Given the description of an element on the screen output the (x, y) to click on. 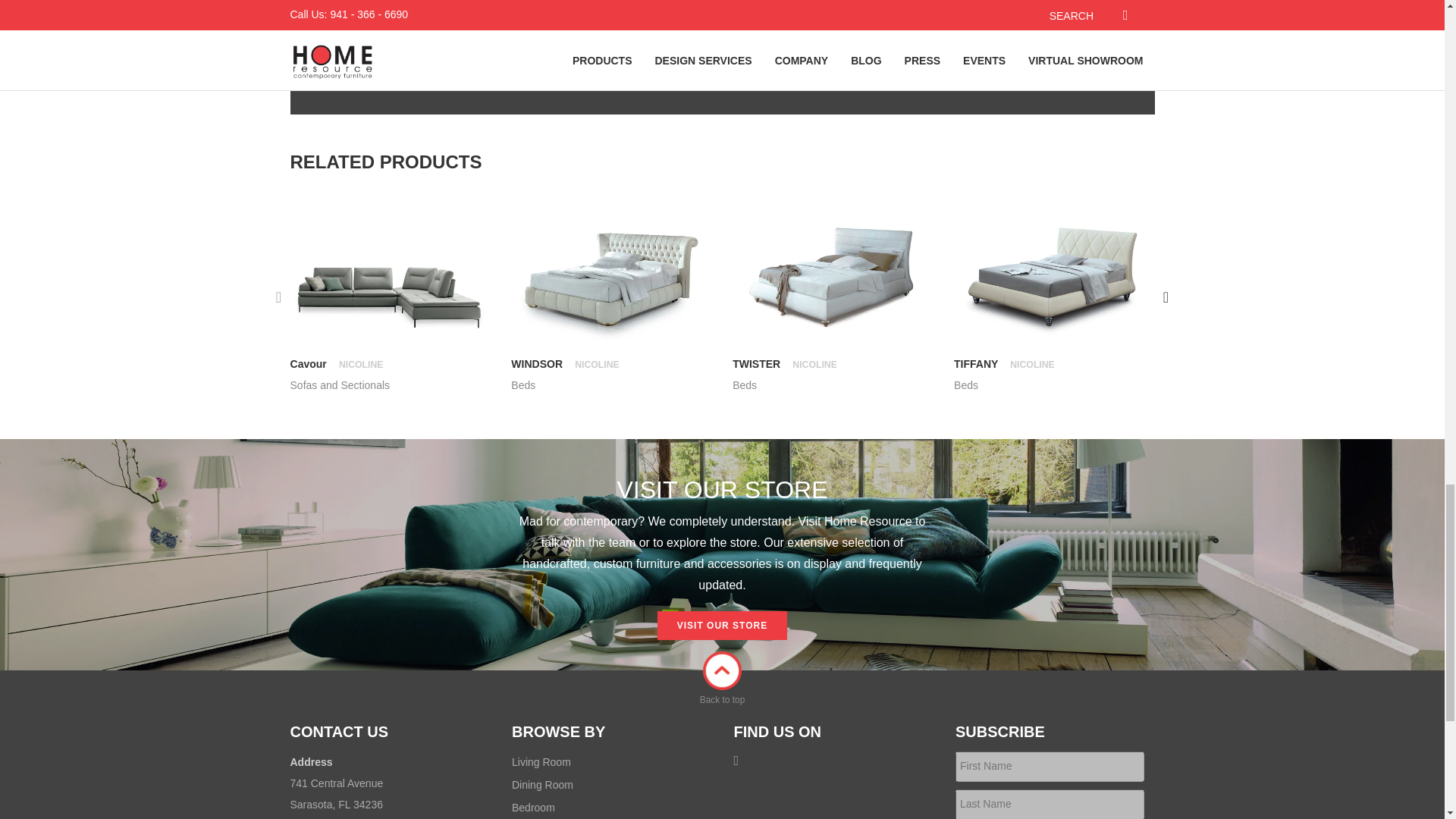
WINDSOR (564, 363)
Cavour (336, 363)
TIFFANY by NICOLINE (1053, 276)
TWISTER by NICOLINE (831, 276)
Cavour by NICOLINE (389, 276)
WINDSOR by NICOLINE (610, 276)
TWISTER (784, 363)
Cavour NICOLINE (336, 363)
